Given the description of an element on the screen output the (x, y) to click on. 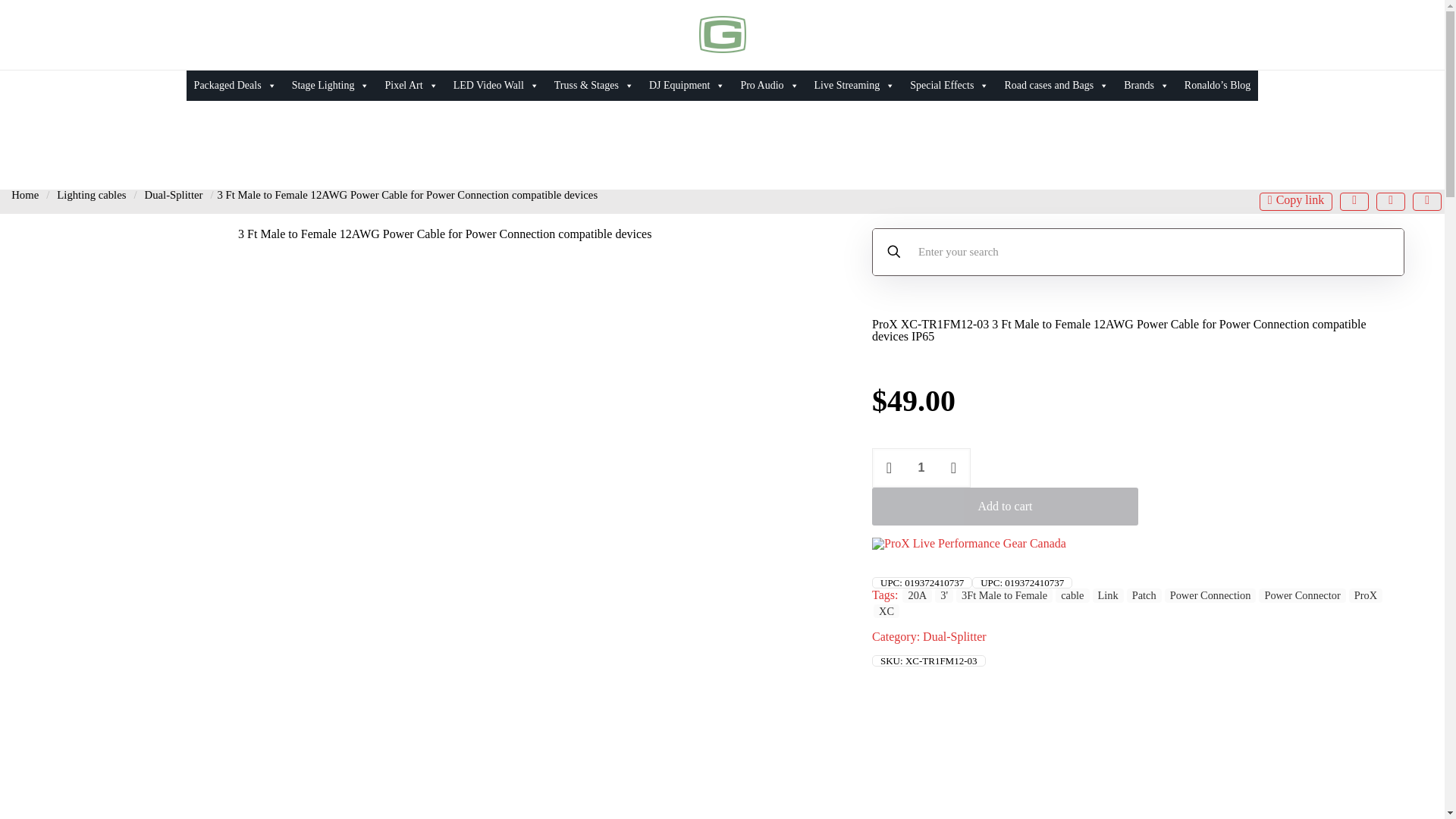
Pixel Art (411, 85)
LED Video Wall (496, 85)
Packaged Deals (234, 85)
ProX Live (968, 543)
Stage Lighting (330, 85)
1 (921, 467)
